Given the description of an element on the screen output the (x, y) to click on. 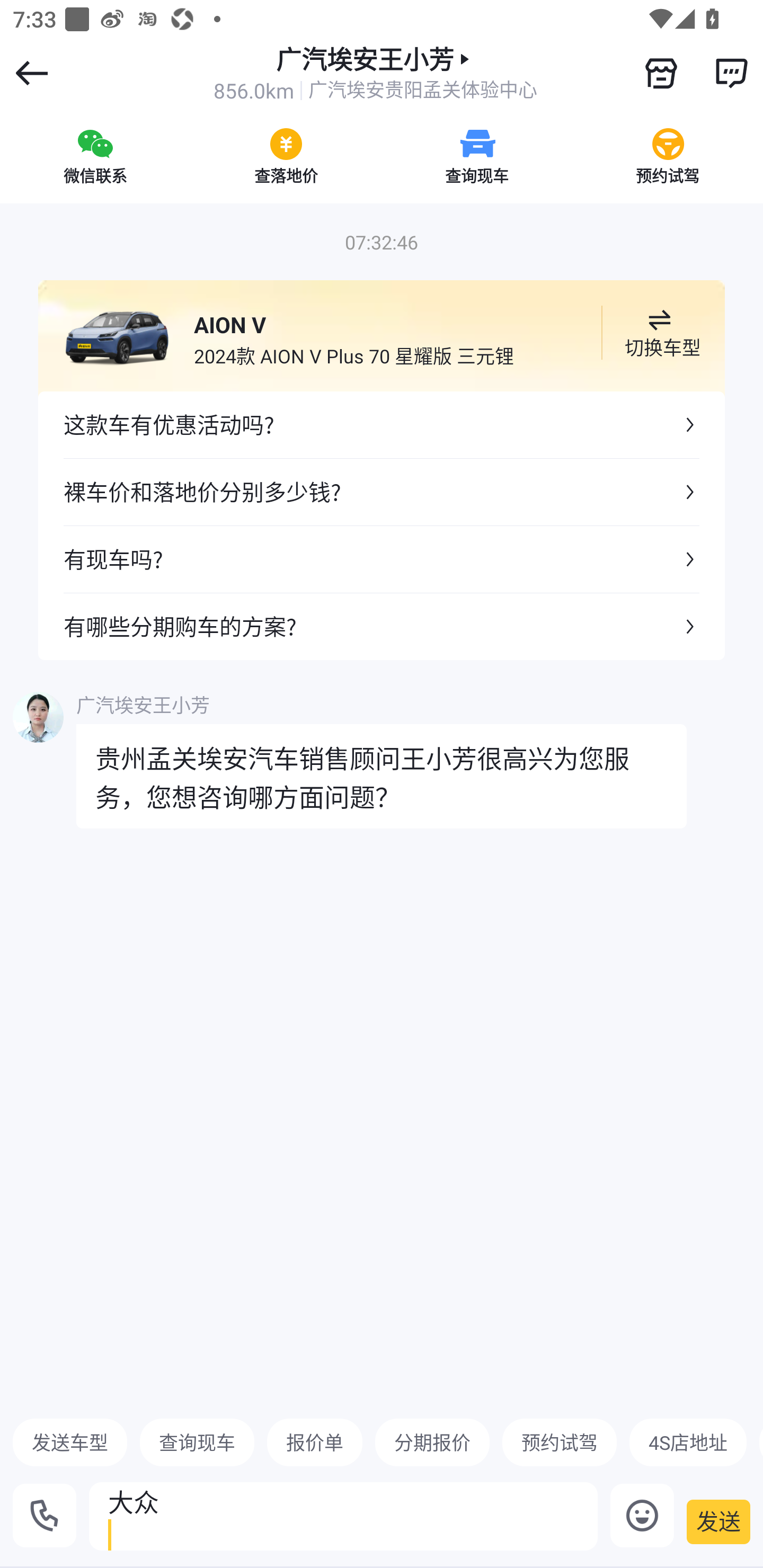
广汽埃安王小芳 856.0km 广汽埃安贵阳孟关体验中心 (374, 73)
 (730, 72)
 (661, 73)
微信联系 (95, 155)
查落地价 (285, 155)
查询现车 (476, 155)
预约试驾 (667, 155)
切换车型 (659, 332)
这款车有优惠活动吗? (381, 424)
裸车价和落地价分别多少钱? (381, 492)
有现车吗? (381, 558)
有哪些分期购车的方案? (381, 626)
贵州孟关埃安汽车销售顾问王小芳很高兴为您服务，您想咨询哪方面问题？ (381, 775)
发送车型 (69, 1442)
查询现车 (196, 1442)
报价单 (314, 1442)
分期报价 (432, 1442)
预约试驾 (559, 1442)
4S店地址 (687, 1442)
大众
 (343, 1515)
发送 (718, 1521)
